Given the description of an element on the screen output the (x, y) to click on. 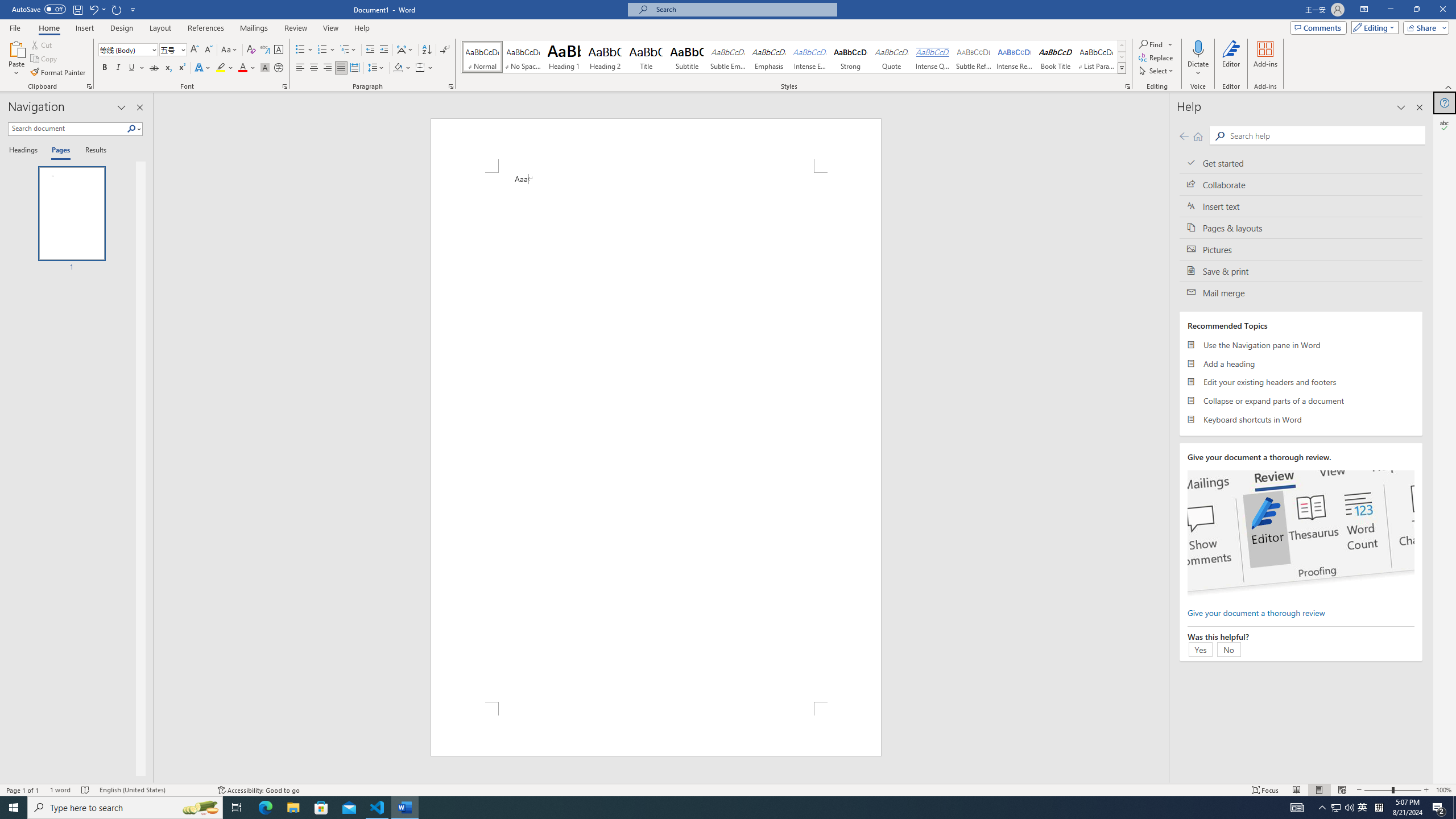
Yes (1200, 649)
Insert text (1300, 206)
